Given the description of an element on the screen output the (x, y) to click on. 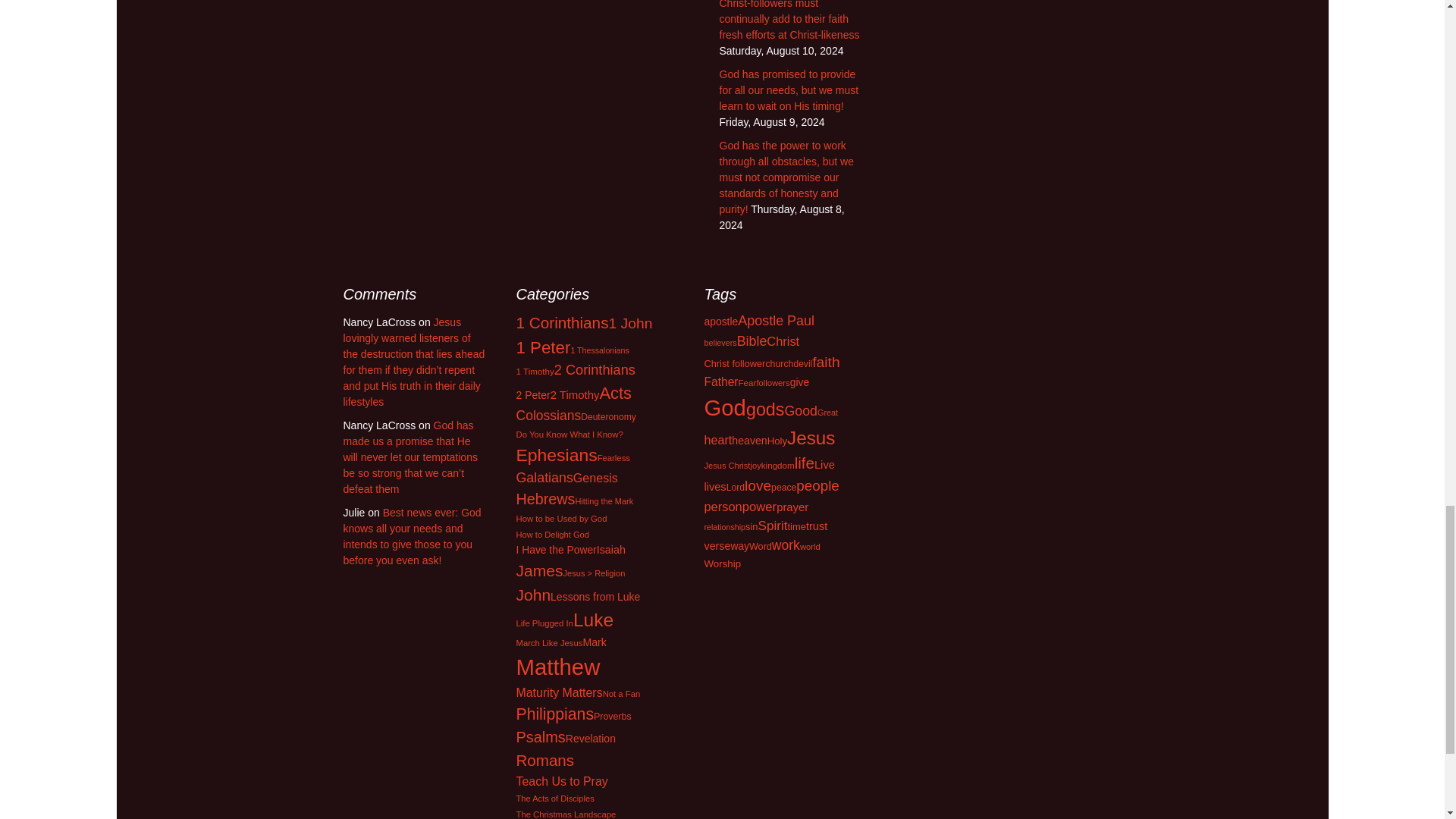
1 Corinthians (561, 322)
